Given the description of an element on the screen output the (x, y) to click on. 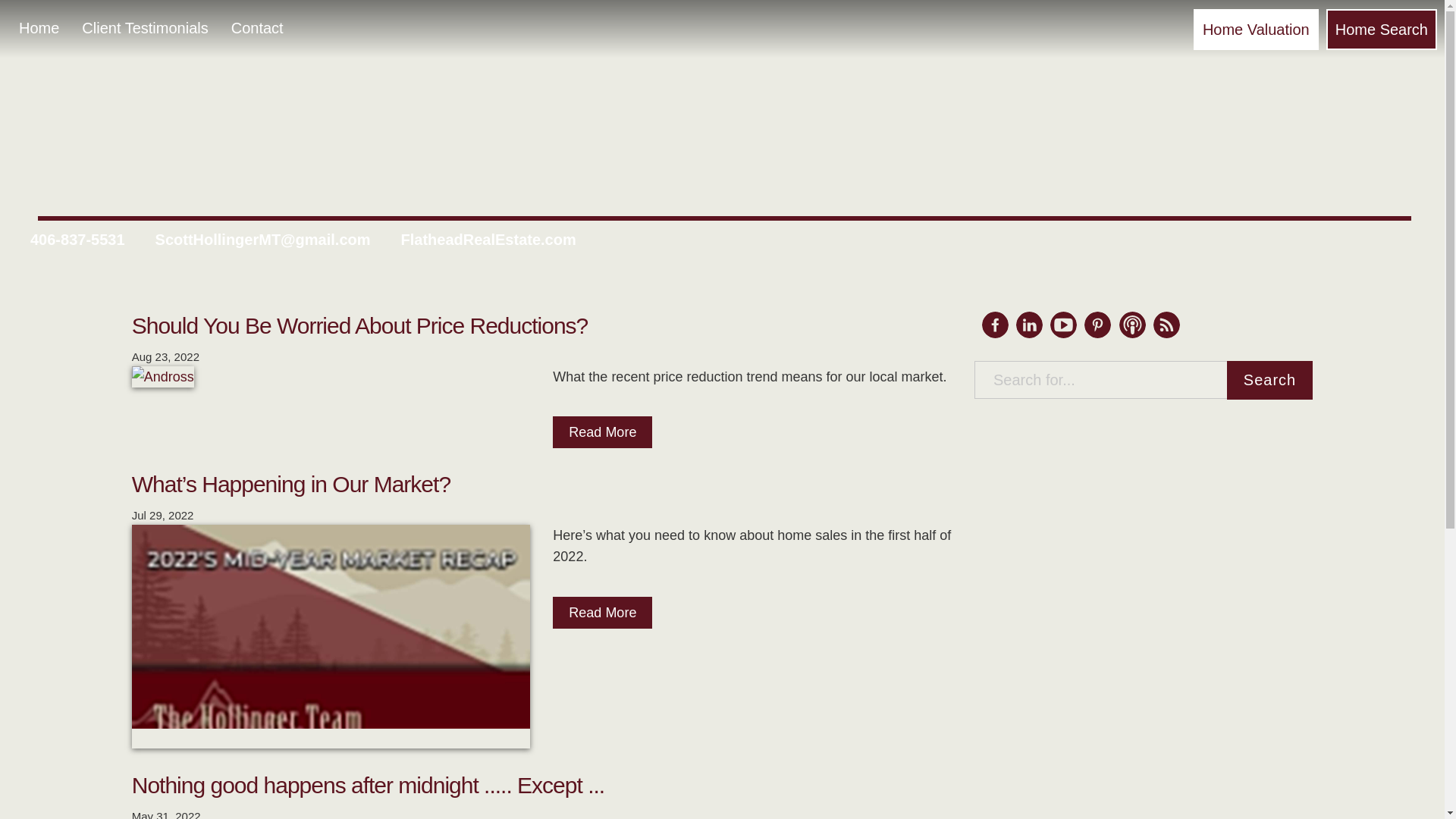
Linkedin (1029, 333)
Read More (602, 612)
Pinterest (1097, 325)
rss (1166, 325)
Facbook (995, 325)
Contact (252, 23)
Should You Be Worried About Price Reductions? (360, 326)
Home Valuation (1259, 24)
YouTube (1063, 325)
Nothing good happens after midnight ..... Except ... (368, 785)
